Given the description of an element on the screen output the (x, y) to click on. 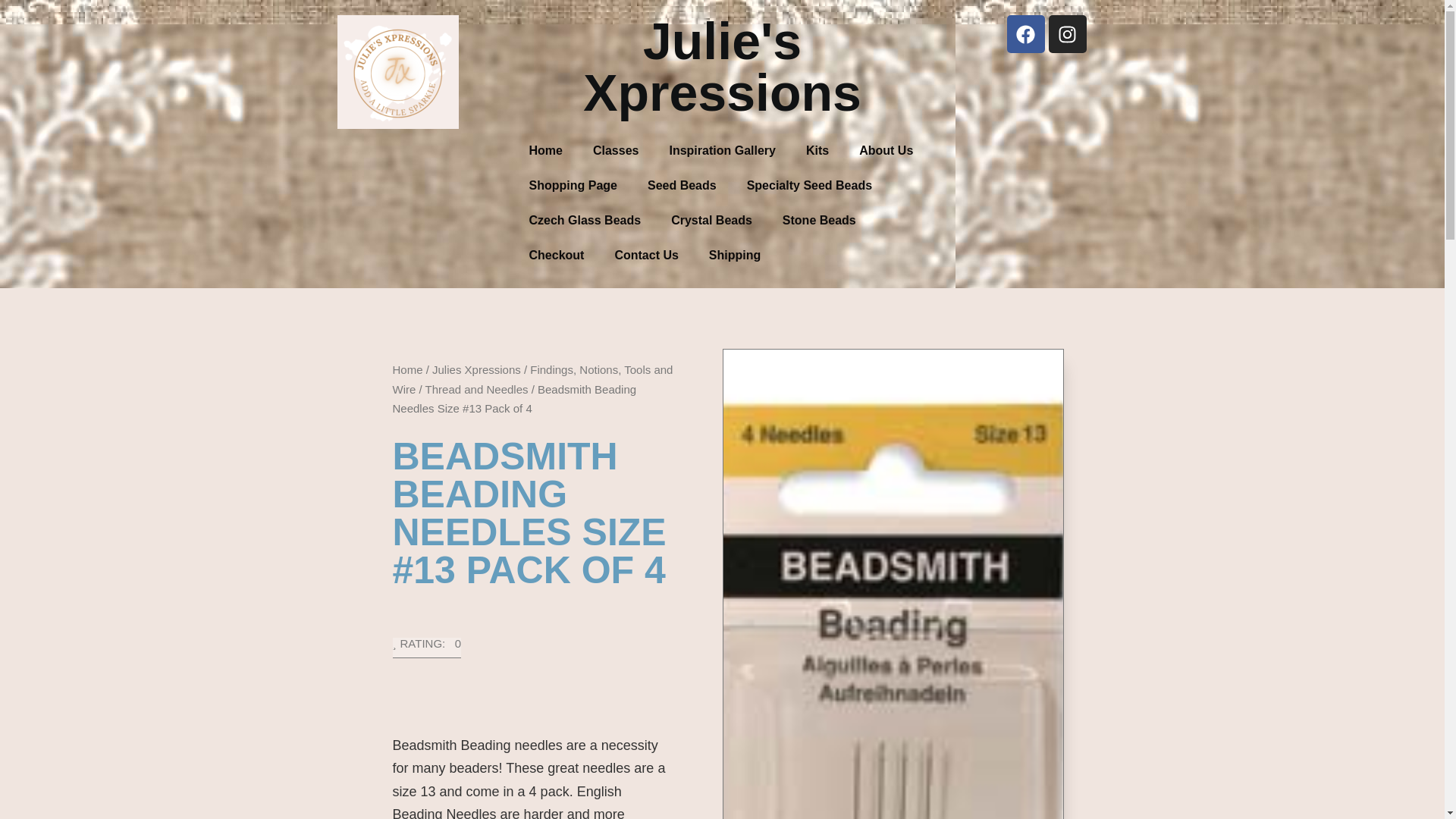
Czech Glass Beads (584, 220)
Shipping (735, 255)
Findings, Notions, Tools and Wire (532, 379)
Home (408, 369)
Home (545, 150)
About Us (886, 150)
Contact Us (645, 255)
Thread and Needles (476, 388)
Julies Xpressions (476, 369)
Seed Beads (681, 185)
Julie's Xpressions (722, 66)
Crystal Beads (711, 220)
Stone Beads (818, 220)
Checkout (556, 255)
Shopping Page (572, 185)
